Given the description of an element on the screen output the (x, y) to click on. 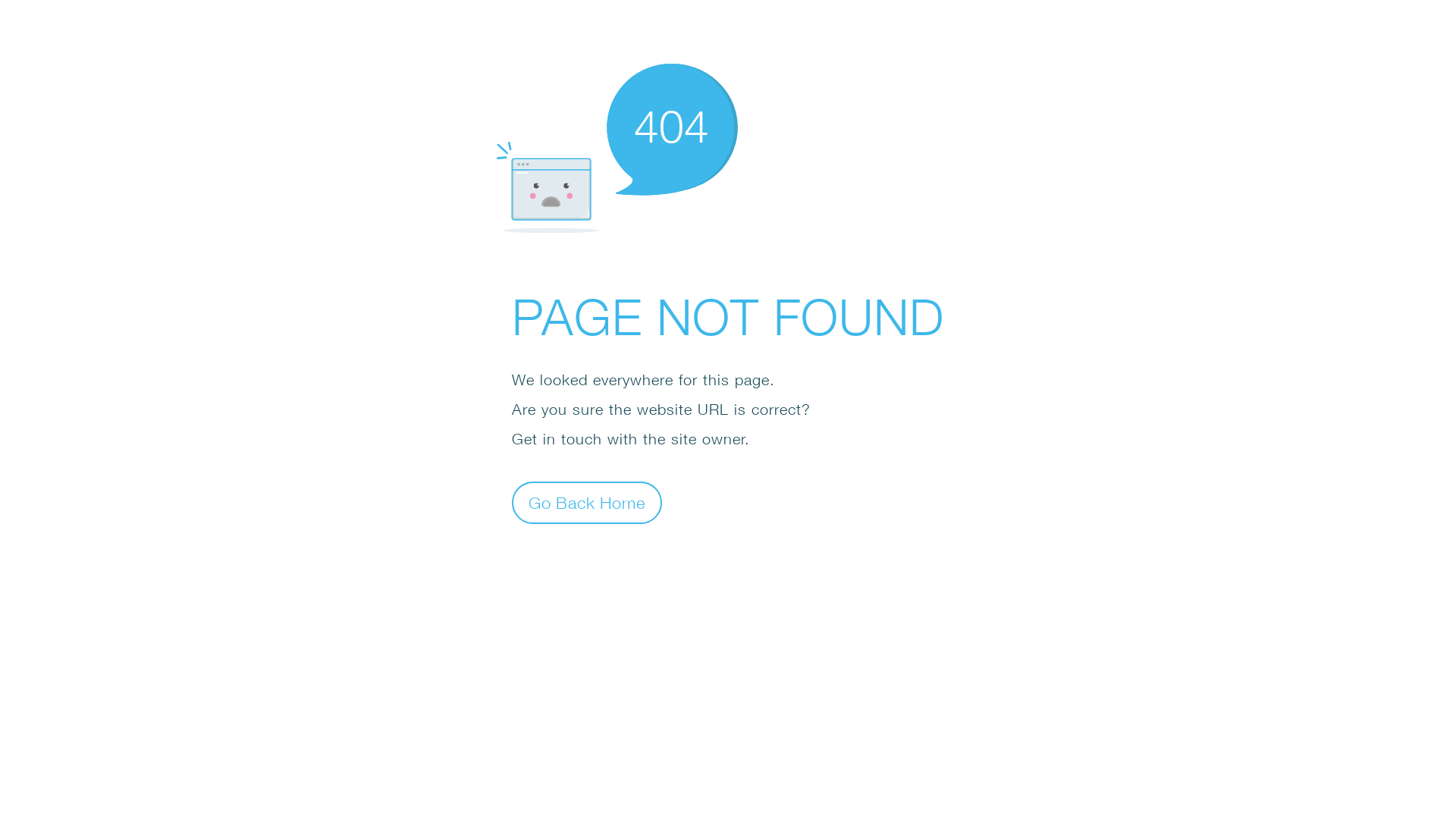
Go Back Home Element type: text (586, 502)
